Given the description of an element on the screen output the (x, y) to click on. 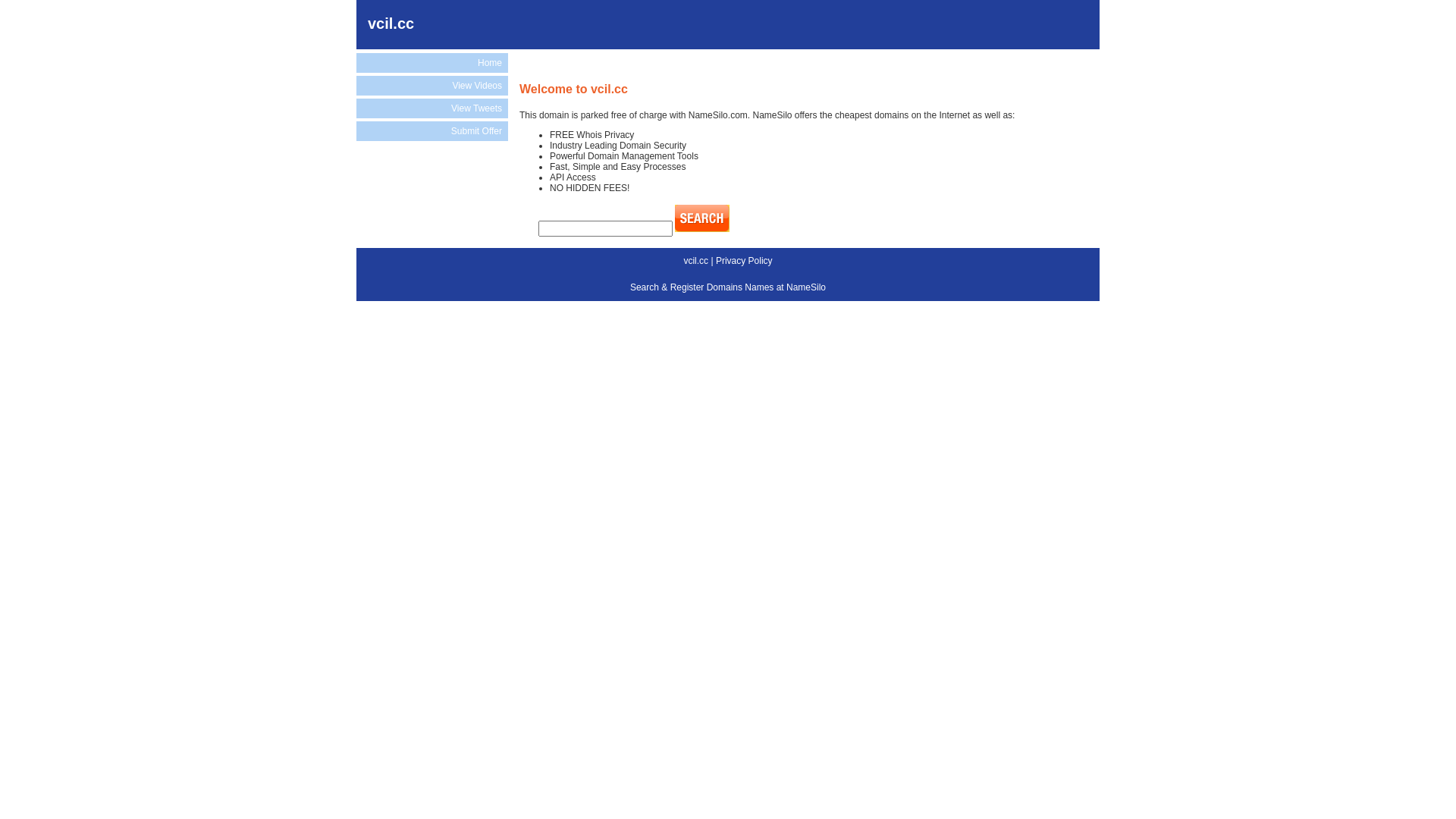
Privacy Policy Element type: text (743, 260)
Search & Register Domains Names at NameSilo Element type: text (727, 287)
Submit Offer Element type: text (432, 131)
Home Element type: text (432, 62)
View Tweets Element type: text (432, 108)
View Videos Element type: text (432, 85)
